Given the description of an element on the screen output the (x, y) to click on. 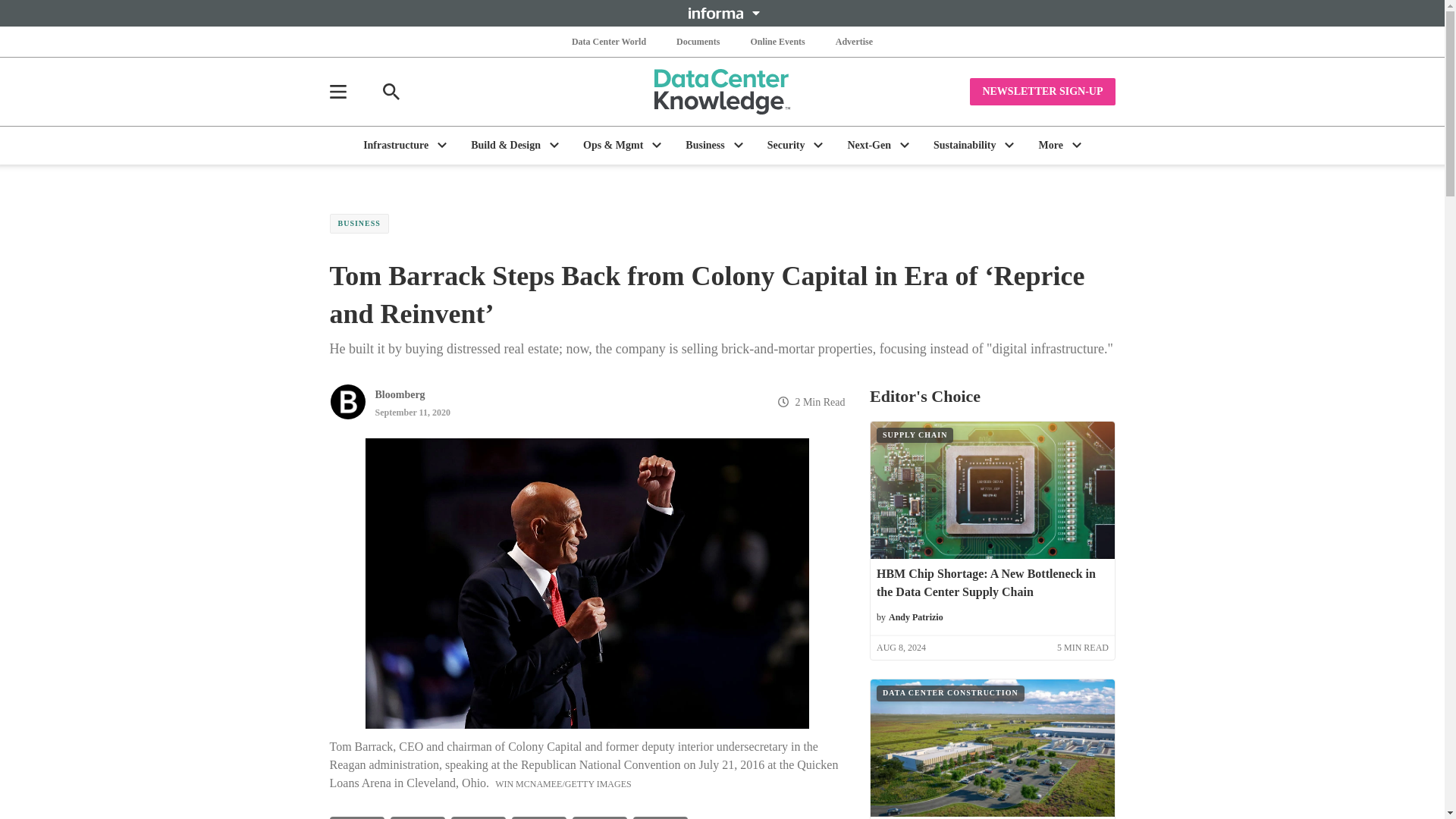
Data Center World (609, 41)
NEWSLETTER SIGN-UP (1042, 90)
Online Events (777, 41)
Picture of Bloomberg (347, 402)
Documents (697, 41)
Data Center Knowledge Logo (721, 91)
Advertise (854, 41)
